Given the description of an element on the screen output the (x, y) to click on. 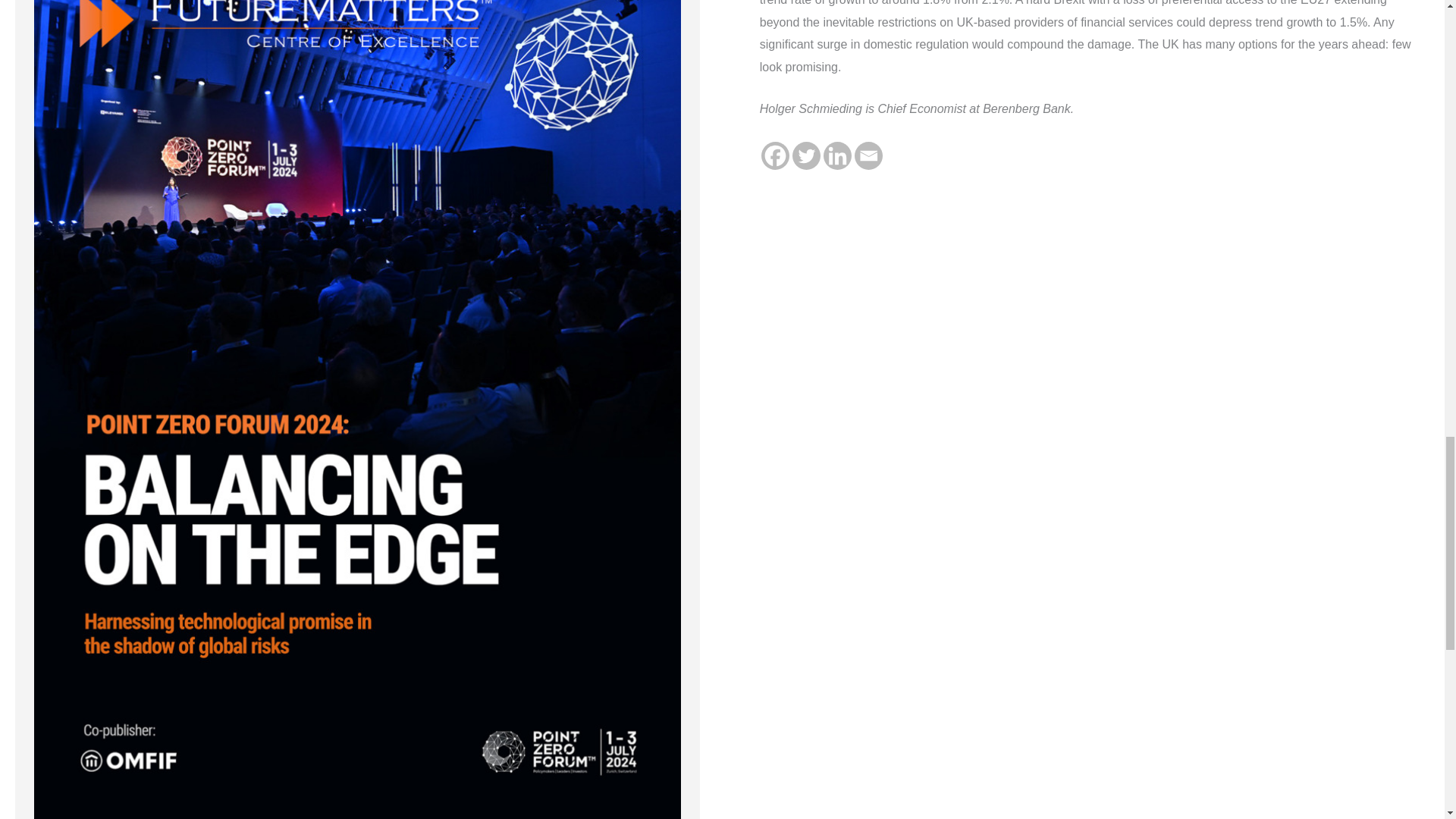
Linkedin (837, 155)
Facebook (775, 155)
Email (868, 155)
Twitter (806, 155)
